Given the description of an element on the screen output the (x, y) to click on. 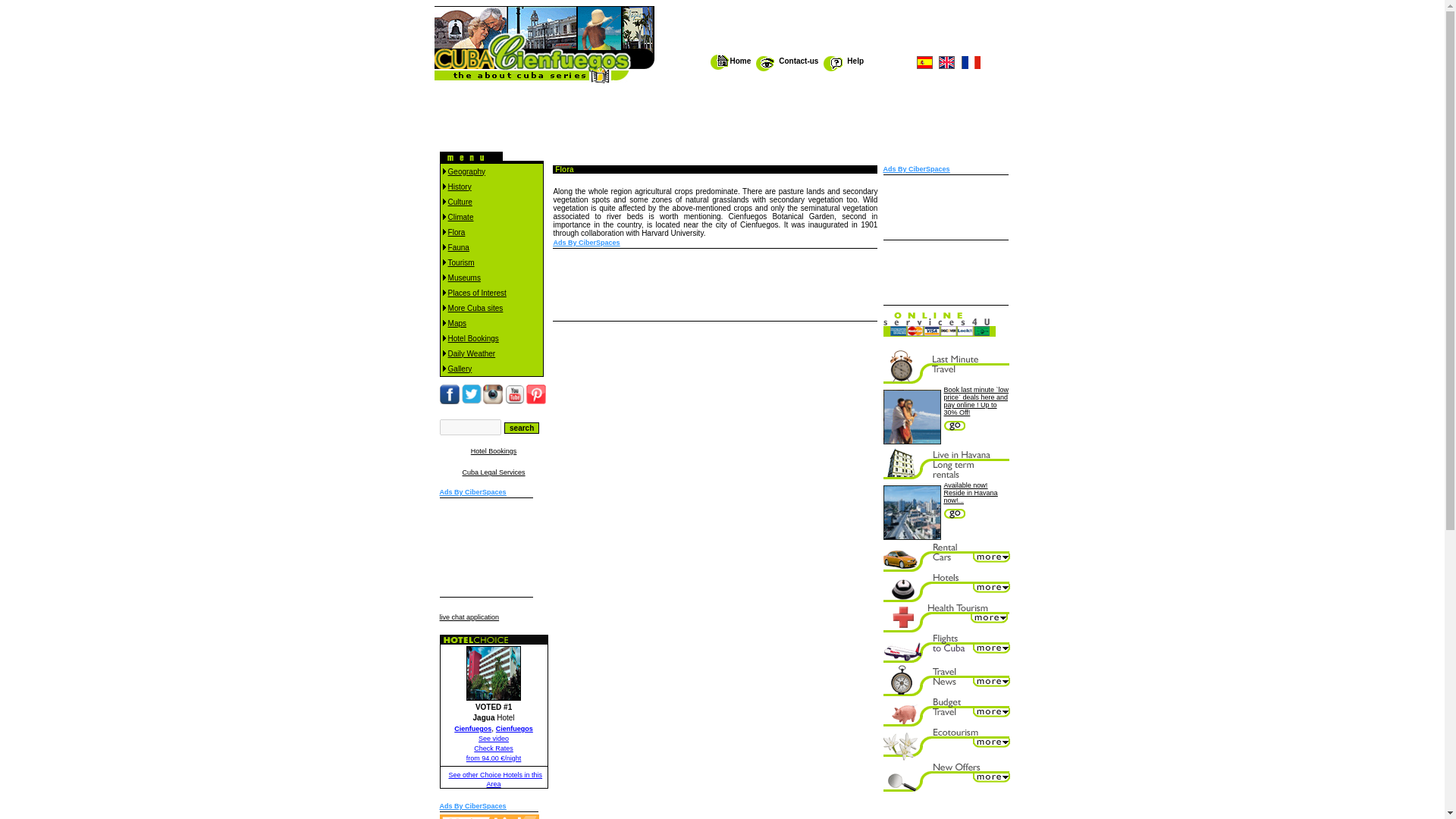
Legal Services in Cuba, Certificates, Legal Issues (494, 471)
Museums (464, 276)
live chat application (469, 616)
Places of Interest (477, 292)
Advertisement (486, 547)
Hotel Bookings (493, 451)
See video (493, 738)
Advertisement (832, 28)
Home (740, 60)
Maps (456, 322)
History (459, 185)
Cienfuegos (473, 728)
Hotel Bookings (473, 337)
search (520, 428)
Check Rates (493, 748)
